Given the description of an element on the screen output the (x, y) to click on. 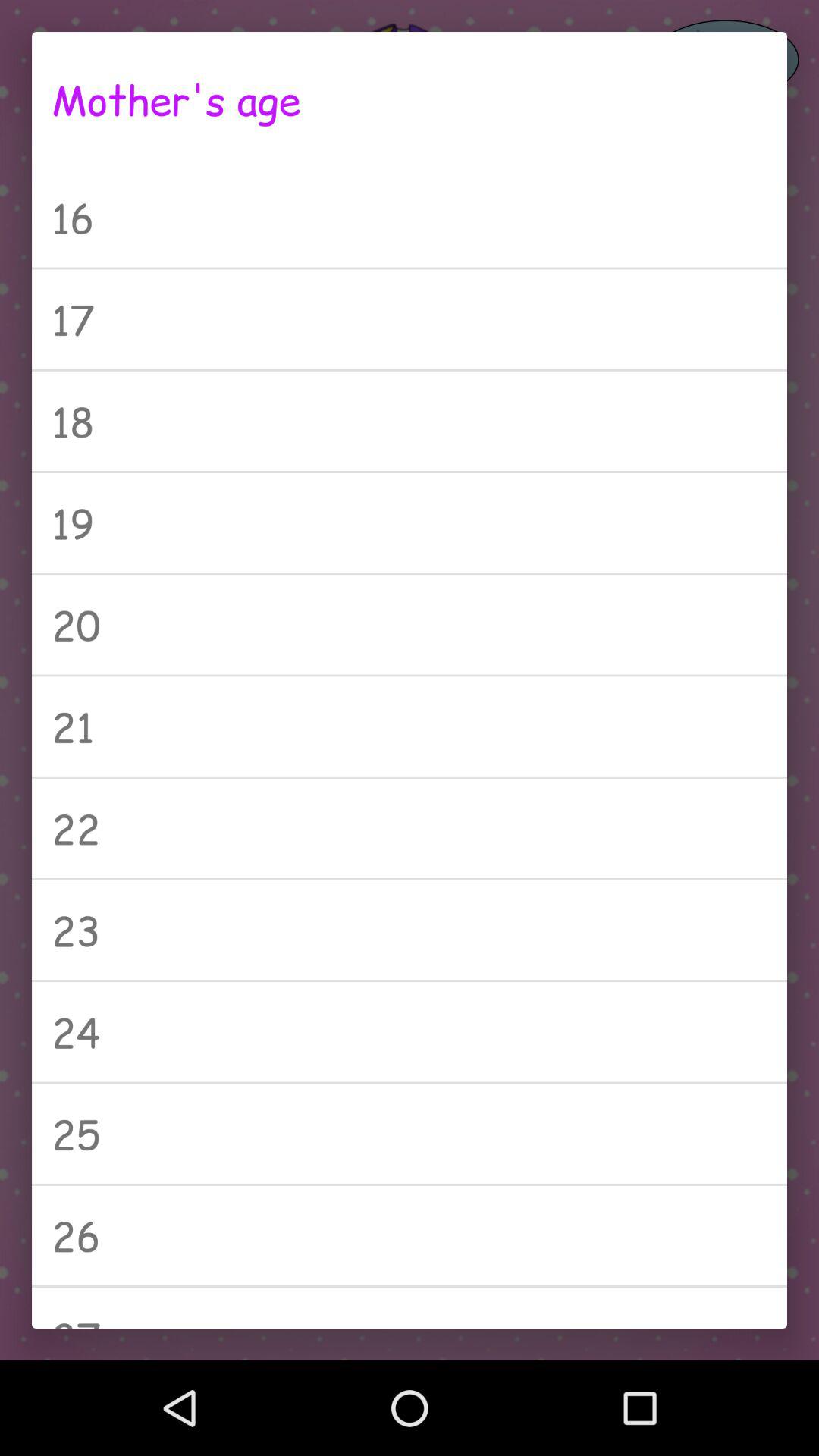
turn on the 21 icon (409, 726)
